Given the description of an element on the screen output the (x, y) to click on. 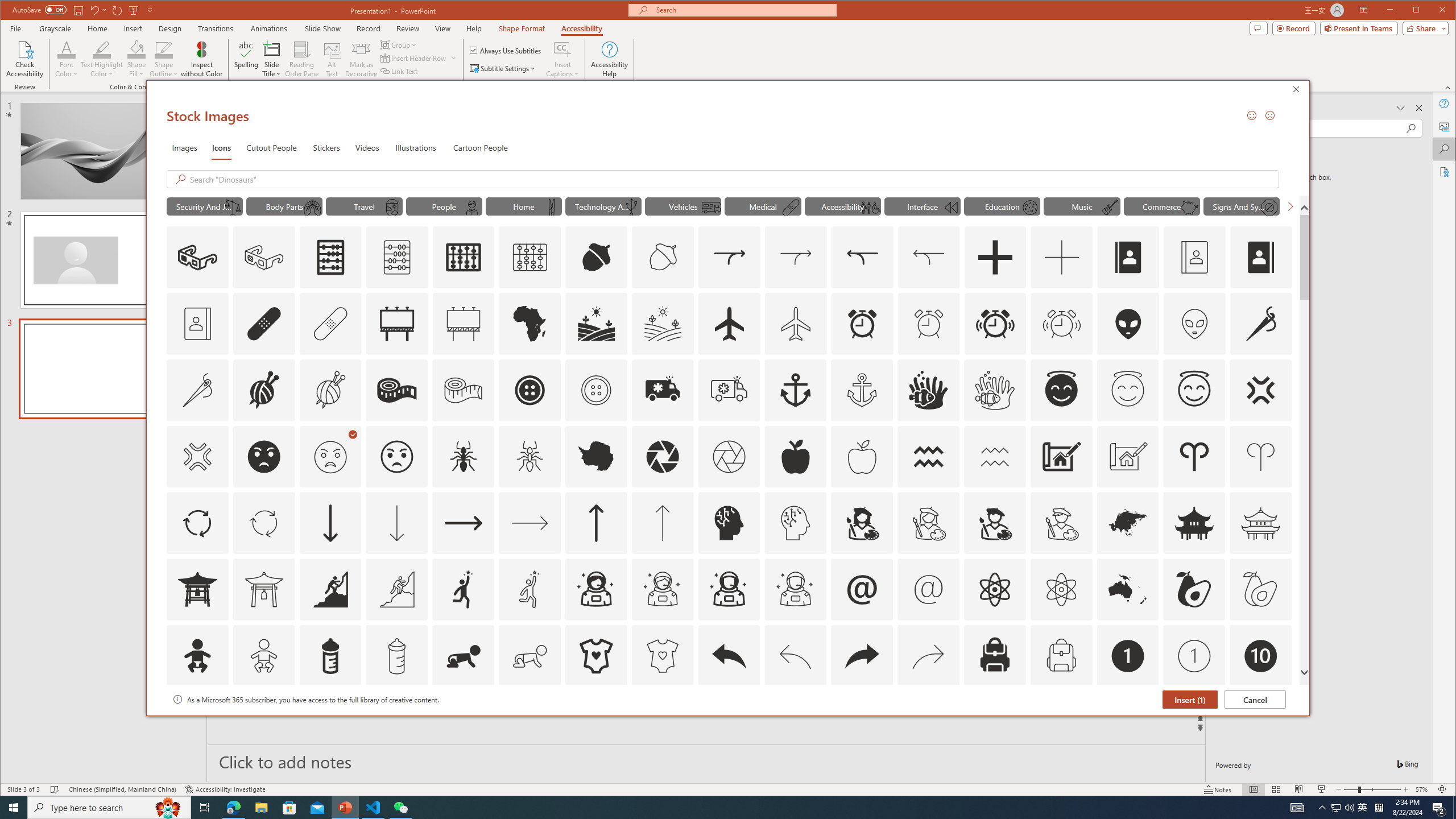
AutomationID: Icons_Mercury_M (1029, 207)
Group (399, 44)
AutomationID: Icons_StopSign_M (1269, 207)
AutomationID: Icons_AlterationsTailoring2 (397, 389)
Insert Captions (562, 59)
AutomationID: Icons_Baby_M (263, 655)
Shape Fill Orange, Accent 2 (136, 48)
AutomationID: Icons_At_M (928, 589)
AutomationID: Icons_Badge4_M (595, 721)
